Given the description of an element on the screen output the (x, y) to click on. 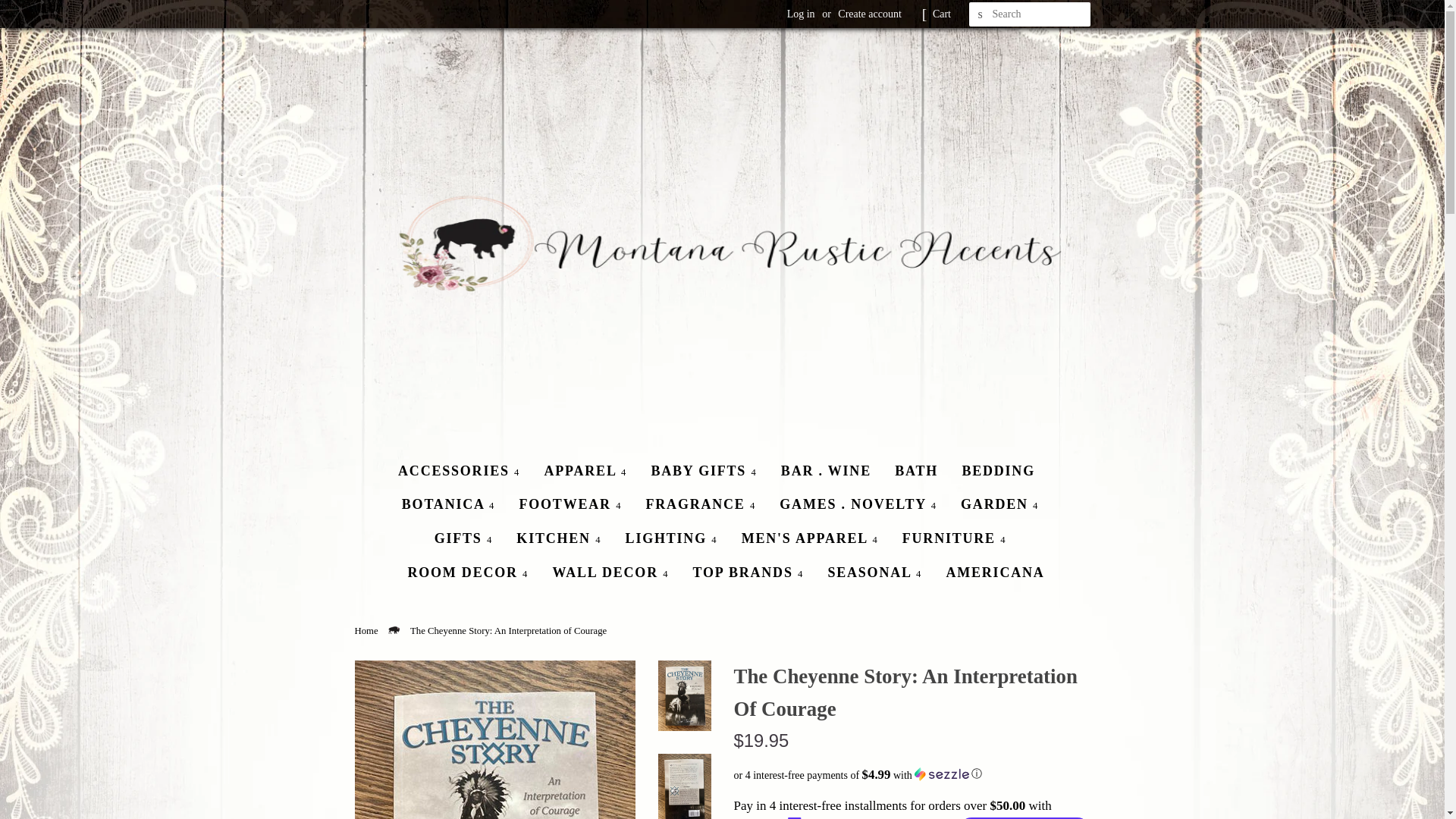
Log in (801, 13)
Cart (941, 13)
Back to the frontpage (368, 630)
SEARCH (980, 14)
Create account (869, 13)
